Given the description of an element on the screen output the (x, y) to click on. 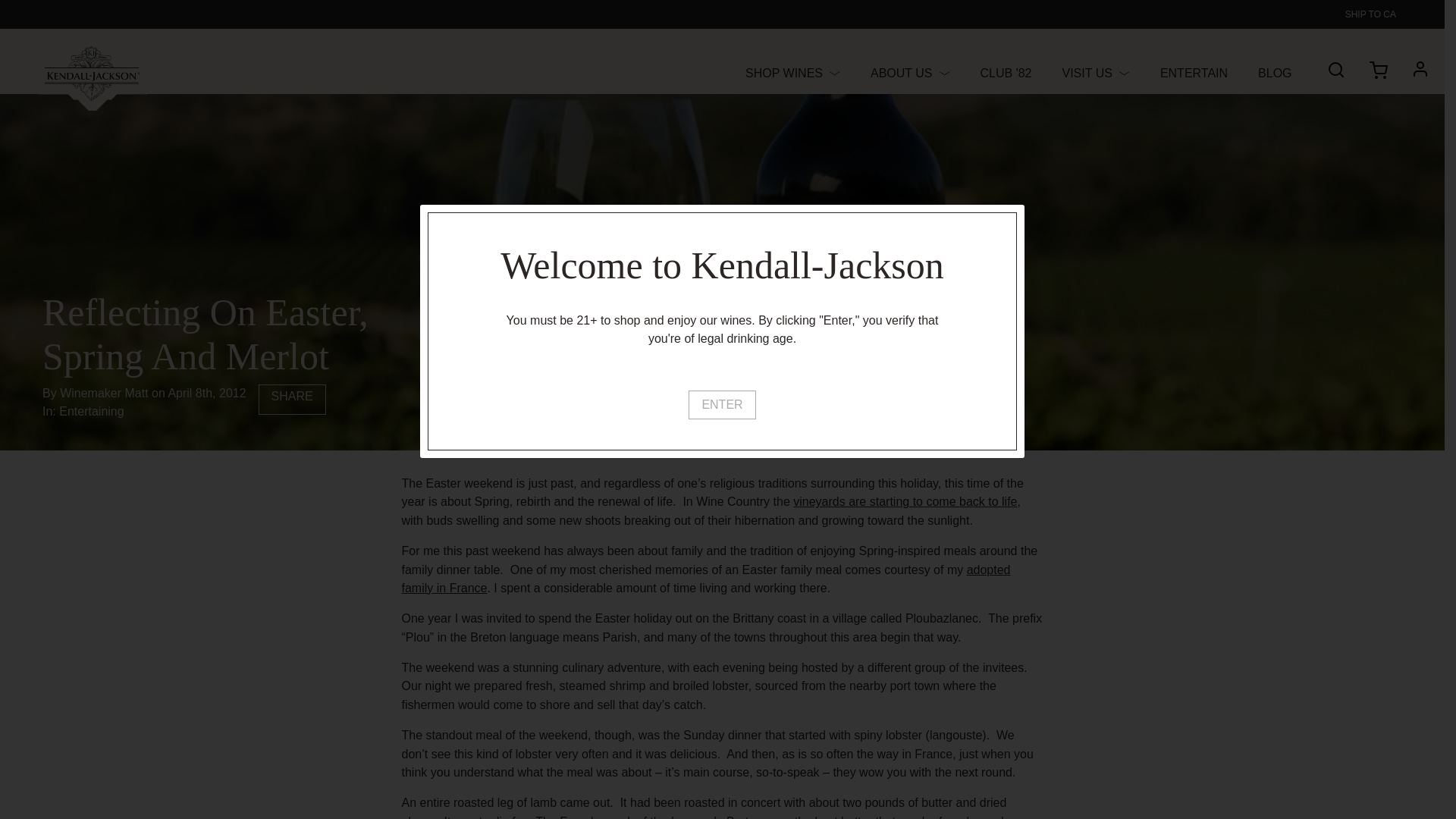
logo homepage (92, 77)
SHOP WINES (792, 73)
ABOUT US (910, 73)
Cart 0 Items (1386, 74)
